Given the description of an element on the screen output the (x, y) to click on. 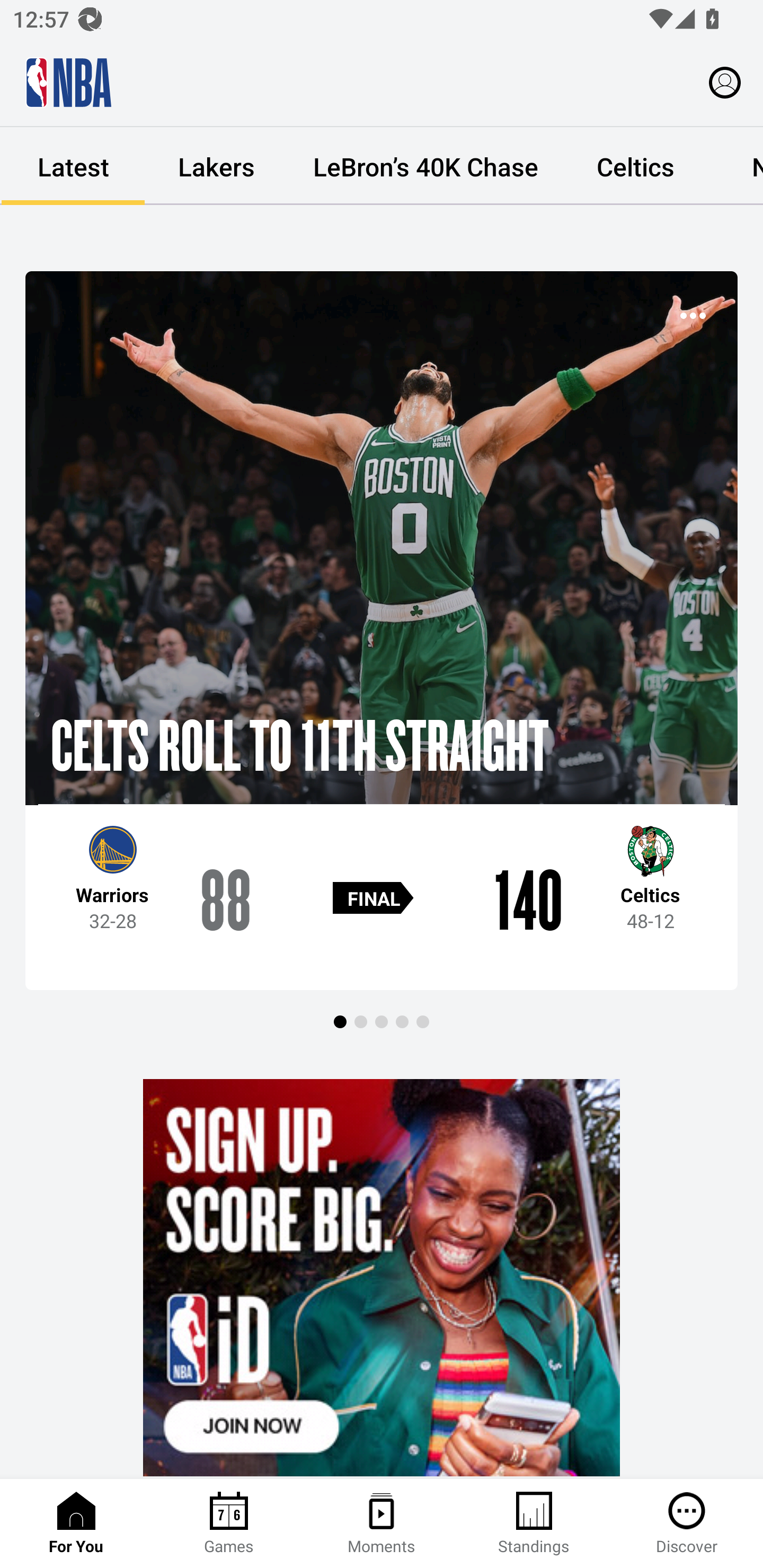
Profile (724, 81)
Lakers (215, 166)
LeBron’s 40K Chase (425, 166)
Celtics (634, 166)
Games (228, 1523)
Moments (381, 1523)
Standings (533, 1523)
Discover (686, 1523)
